Given the description of an element on the screen output the (x, y) to click on. 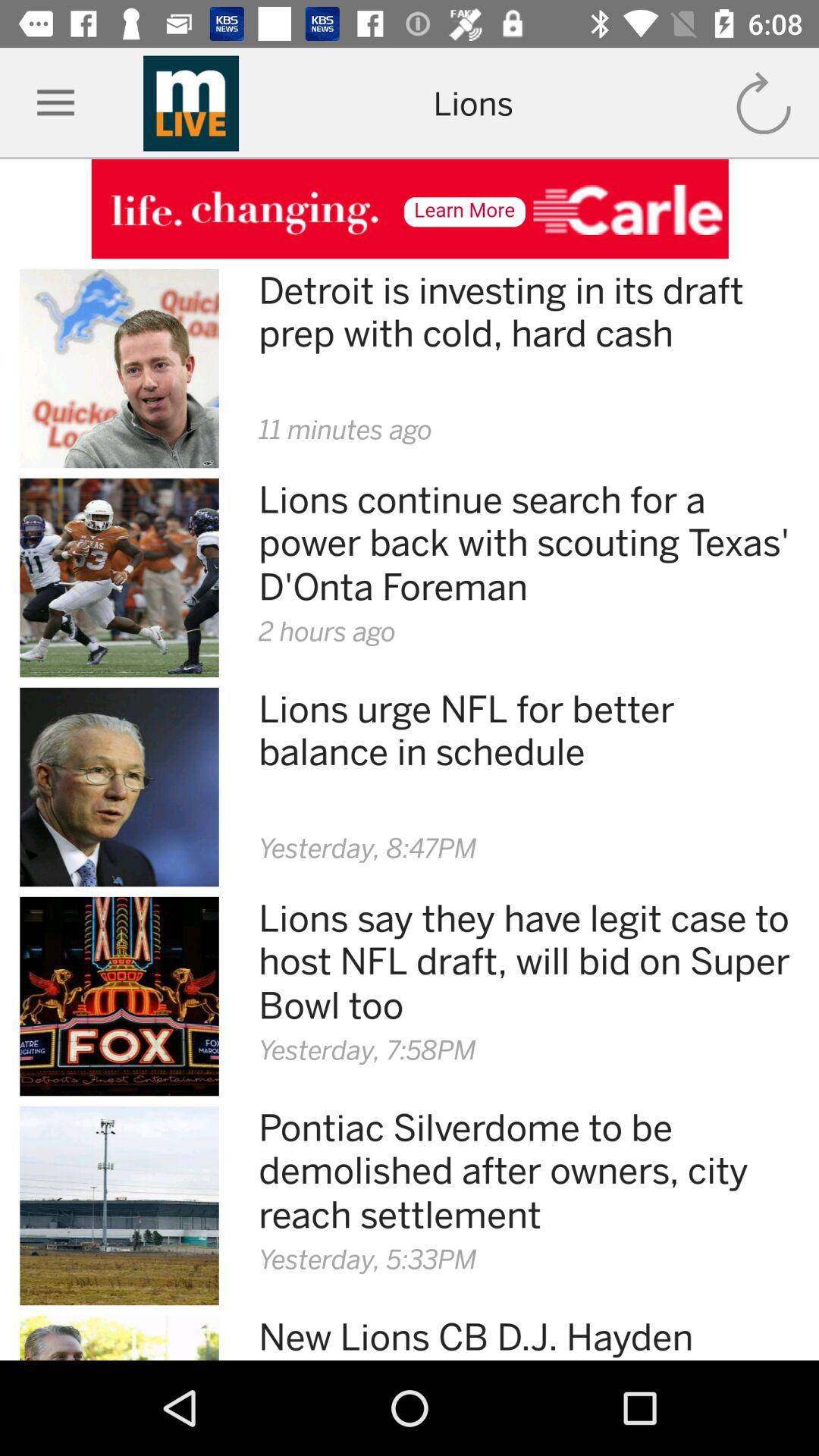
icon left of mlive (55, 103)
